Given the description of an element on the screen output the (x, y) to click on. 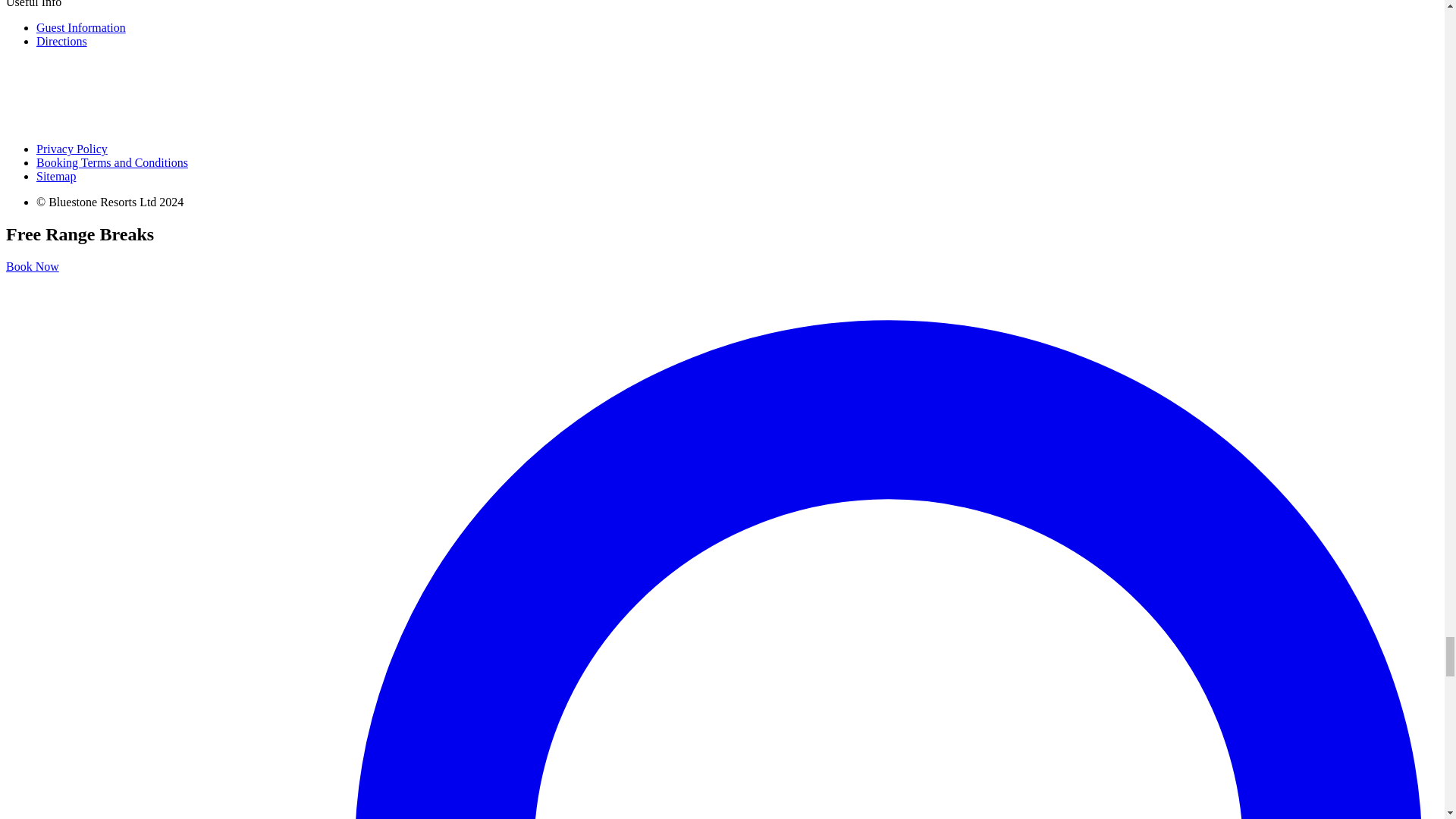
Privacy Policy (71, 148)
Directions (61, 41)
Guest Information (80, 27)
Booking Terms and Conditions (111, 162)
Sitemap (55, 175)
